Given the description of an element on the screen output the (x, y) to click on. 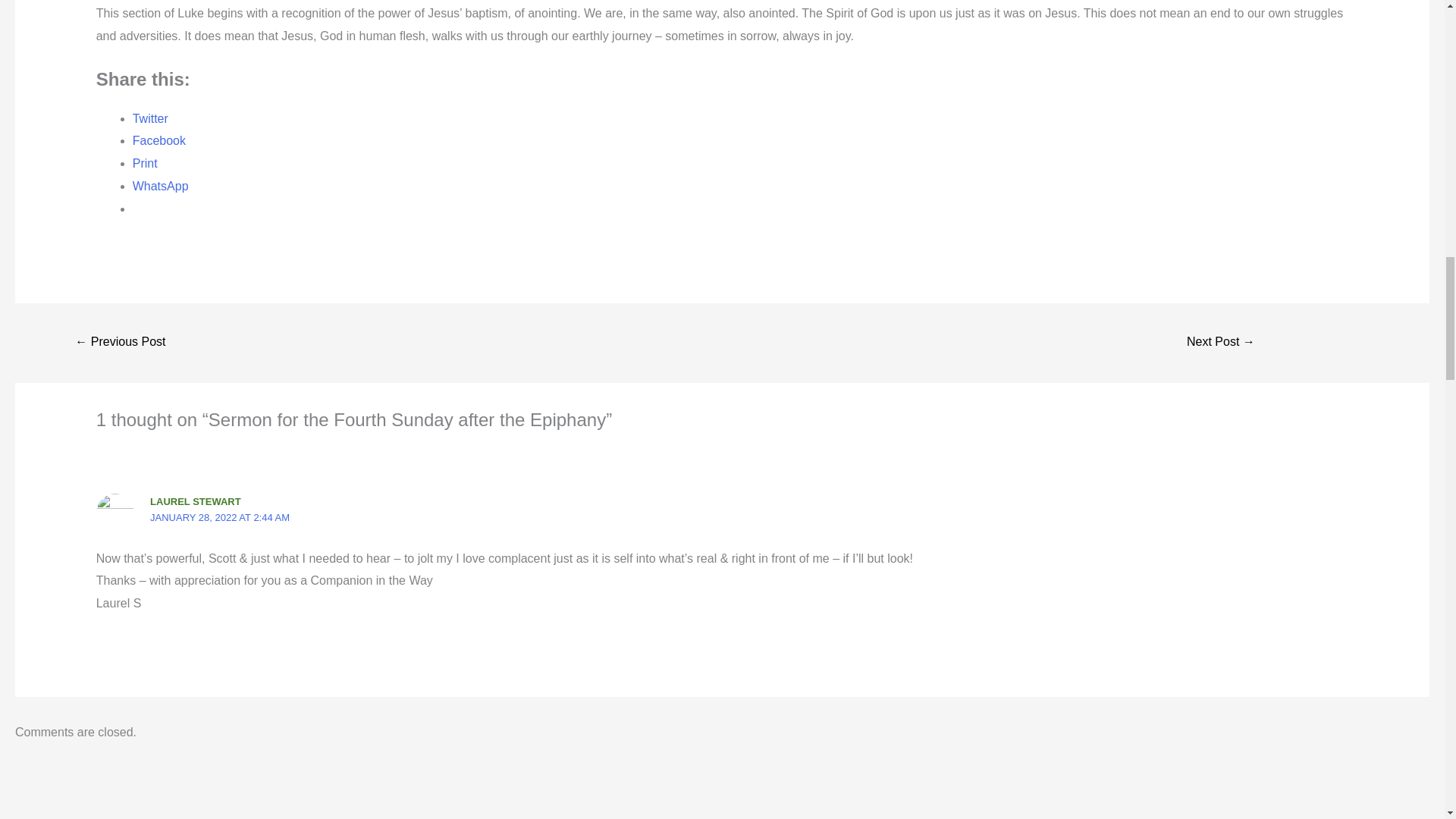
WhatsApp (160, 185)
Twitter (150, 118)
Click to share on Twitter (150, 118)
Click to share on Facebook (159, 140)
Click to print (144, 163)
Print (144, 163)
JANUARY 28, 2022 AT 2:44 AM (219, 517)
Facebook (159, 140)
Click to share on WhatsApp (160, 185)
6th Sunday after Epiphany (1220, 343)
